Given the description of an element on the screen output the (x, y) to click on. 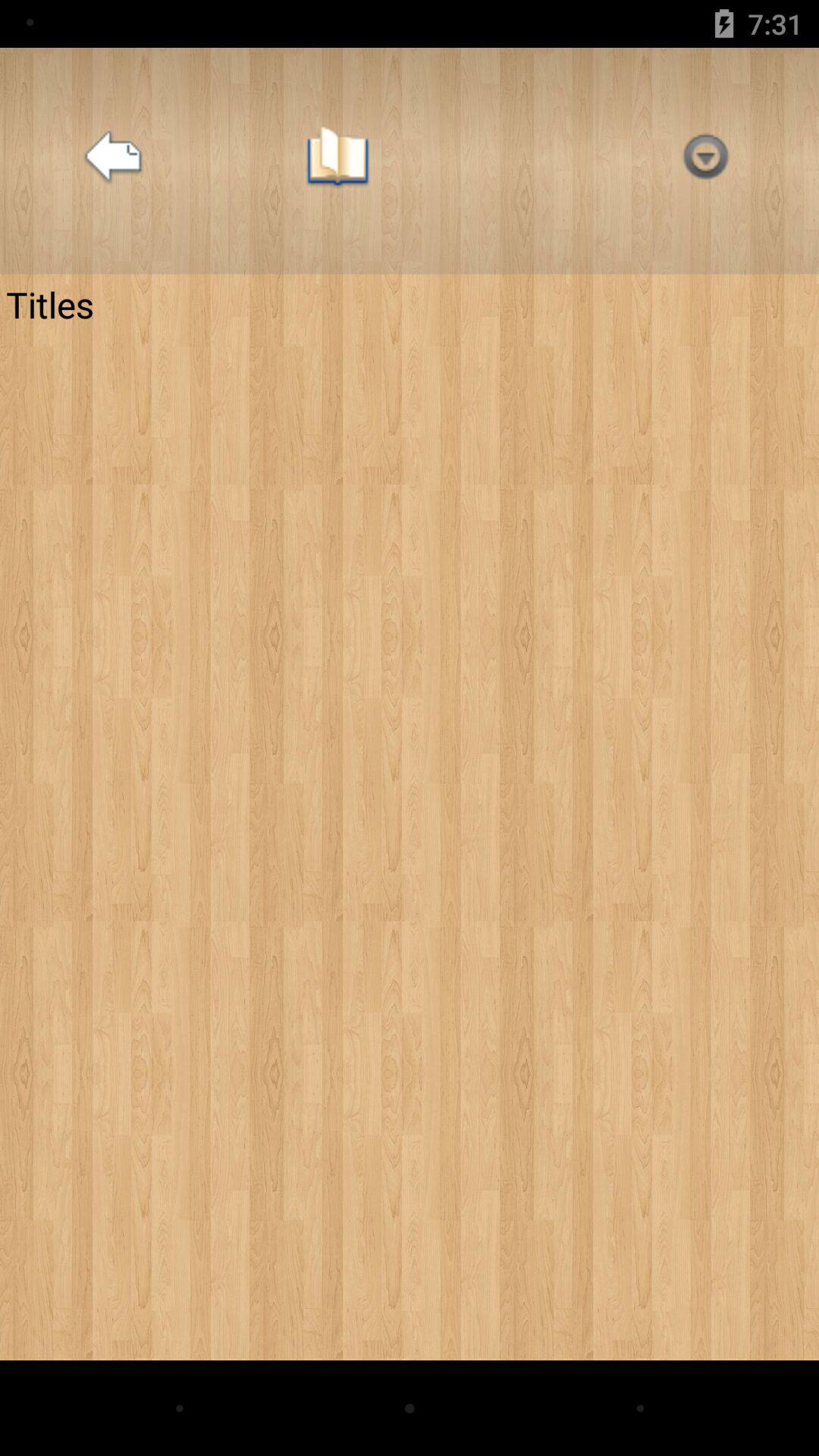
tap the item at the top left corner (112, 160)
